Given the description of an element on the screen output the (x, y) to click on. 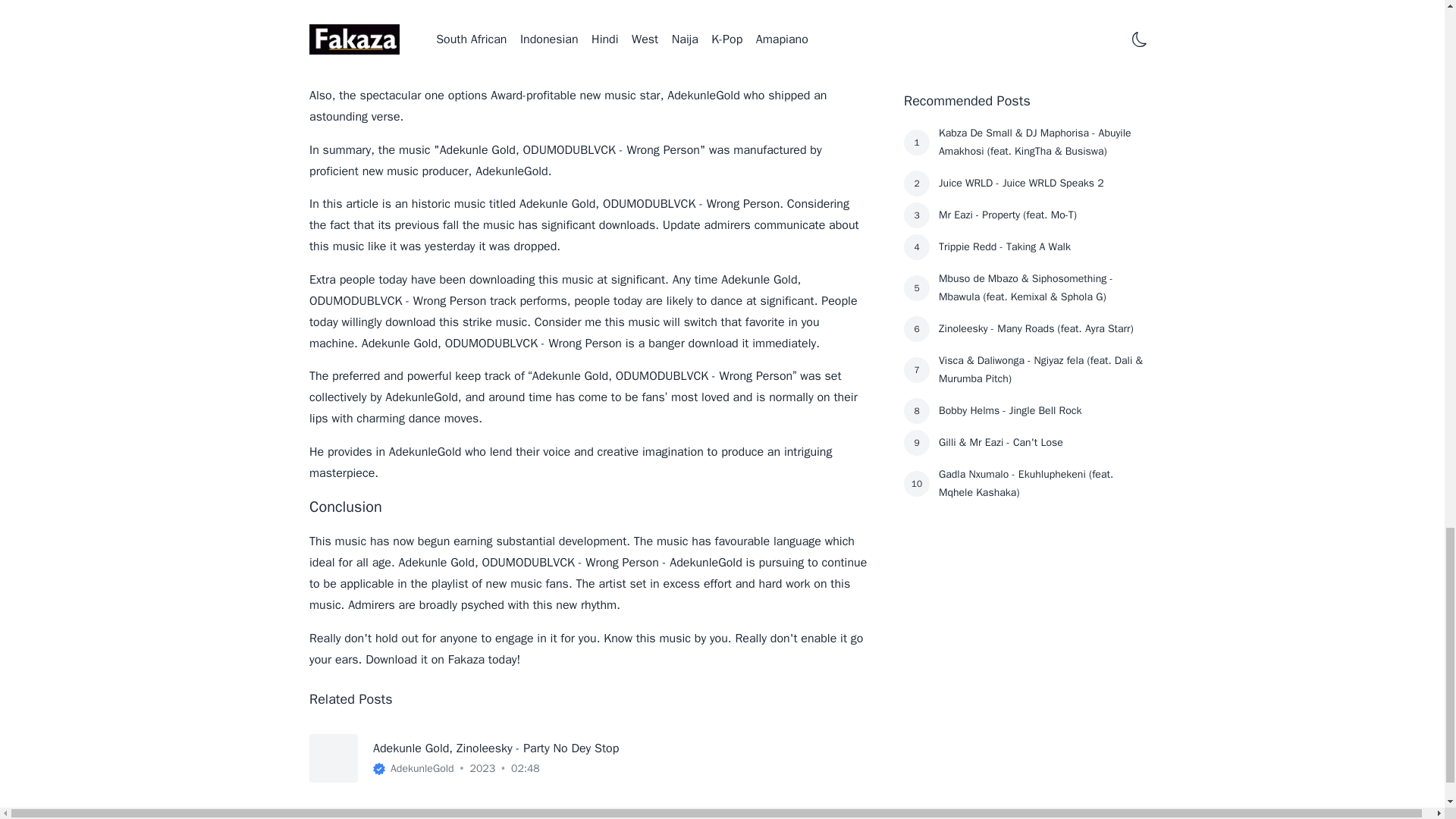
Copyright Claims (1107, 817)
Privacy and Policy (927, 817)
Adekunle Gold, Zinoleesky - Party No Dey Stop (495, 748)
FAQ (1049, 817)
Contact Us (1003, 817)
Adekunle Gold, Zinoleesky - Party No Dey Stop (495, 748)
Terms of Use (844, 817)
